Given the description of an element on the screen output the (x, y) to click on. 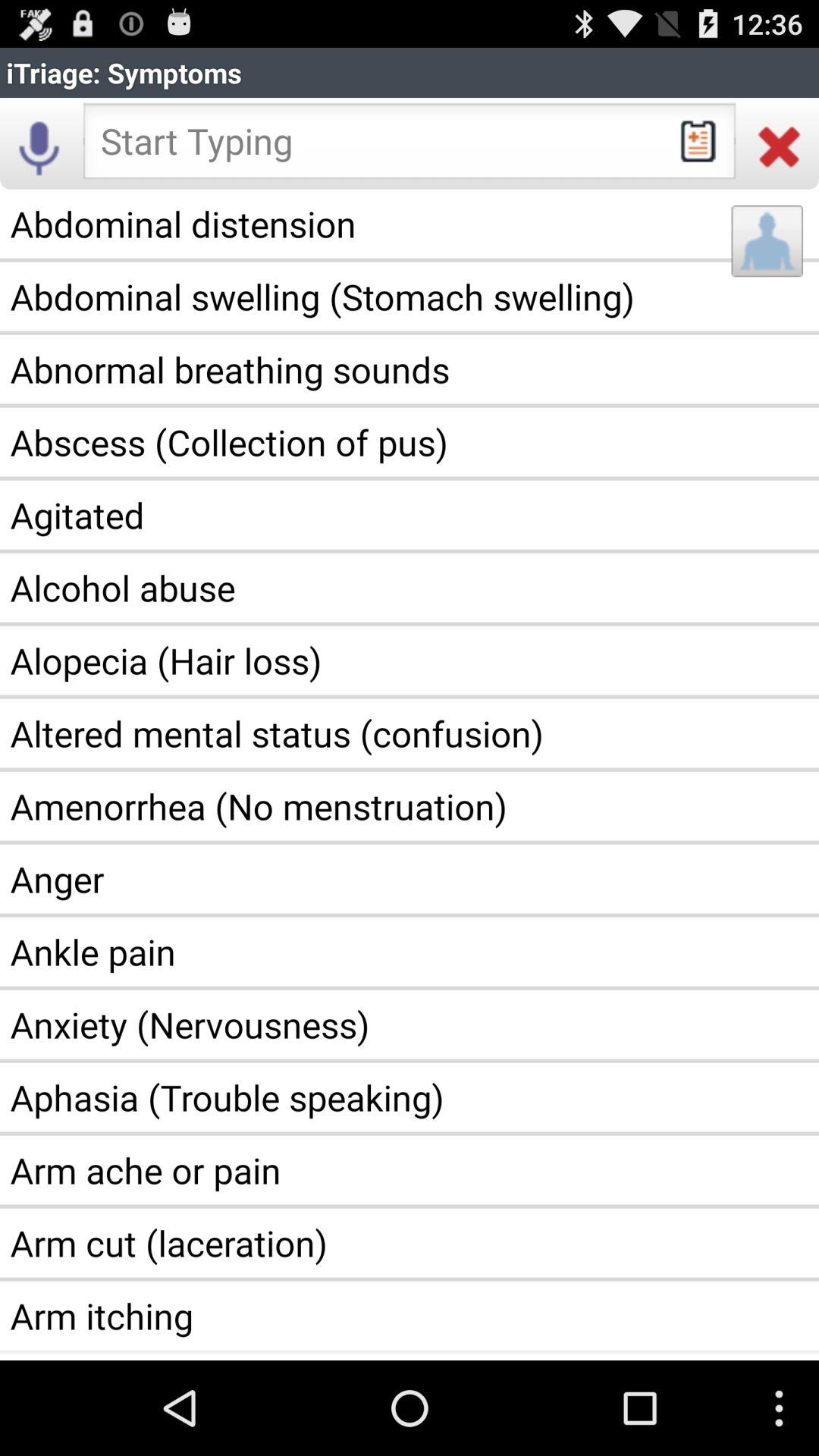
tap the abnormal breathing sounds (409, 369)
